Given the description of an element on the screen output the (x, y) to click on. 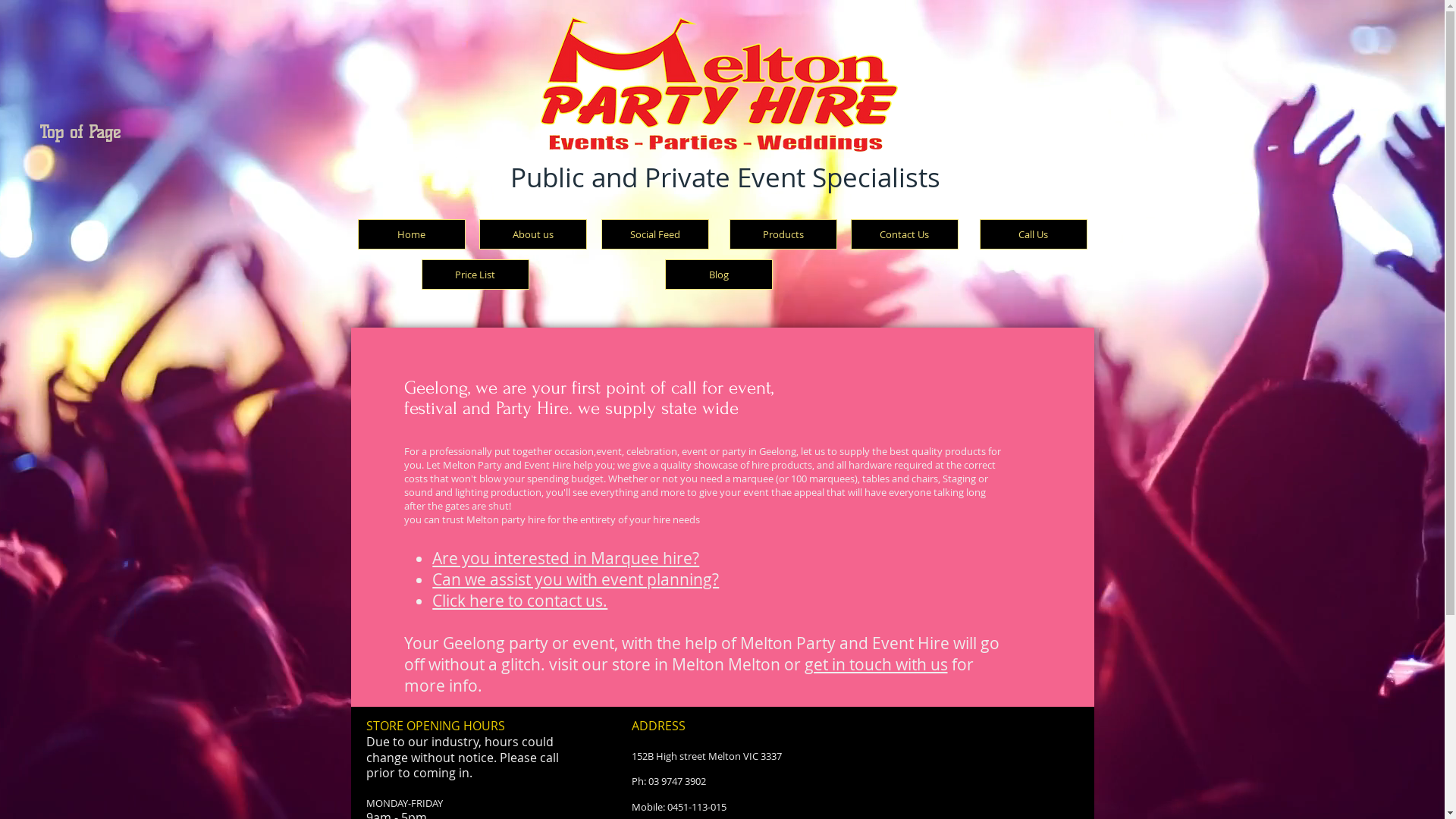
Top of Page Element type: text (60, 132)
Call Us Element type: text (1033, 234)
get in touch with us Element type: text (875, 663)
Products Element type: text (783, 234)
Blog Element type: text (717, 274)
Can we assist you with event planning? Element type: text (575, 578)
Social Feed Element type: text (654, 234)
About us Element type: text (532, 234)
Price List Element type: text (475, 274)
Home Element type: text (411, 234)
Contact Us Element type: text (904, 234)
Site Search Element type: hover (721, 202)
Are you interested in Marquee hire? Element type: text (565, 557)
